Given the description of an element on the screen output the (x, y) to click on. 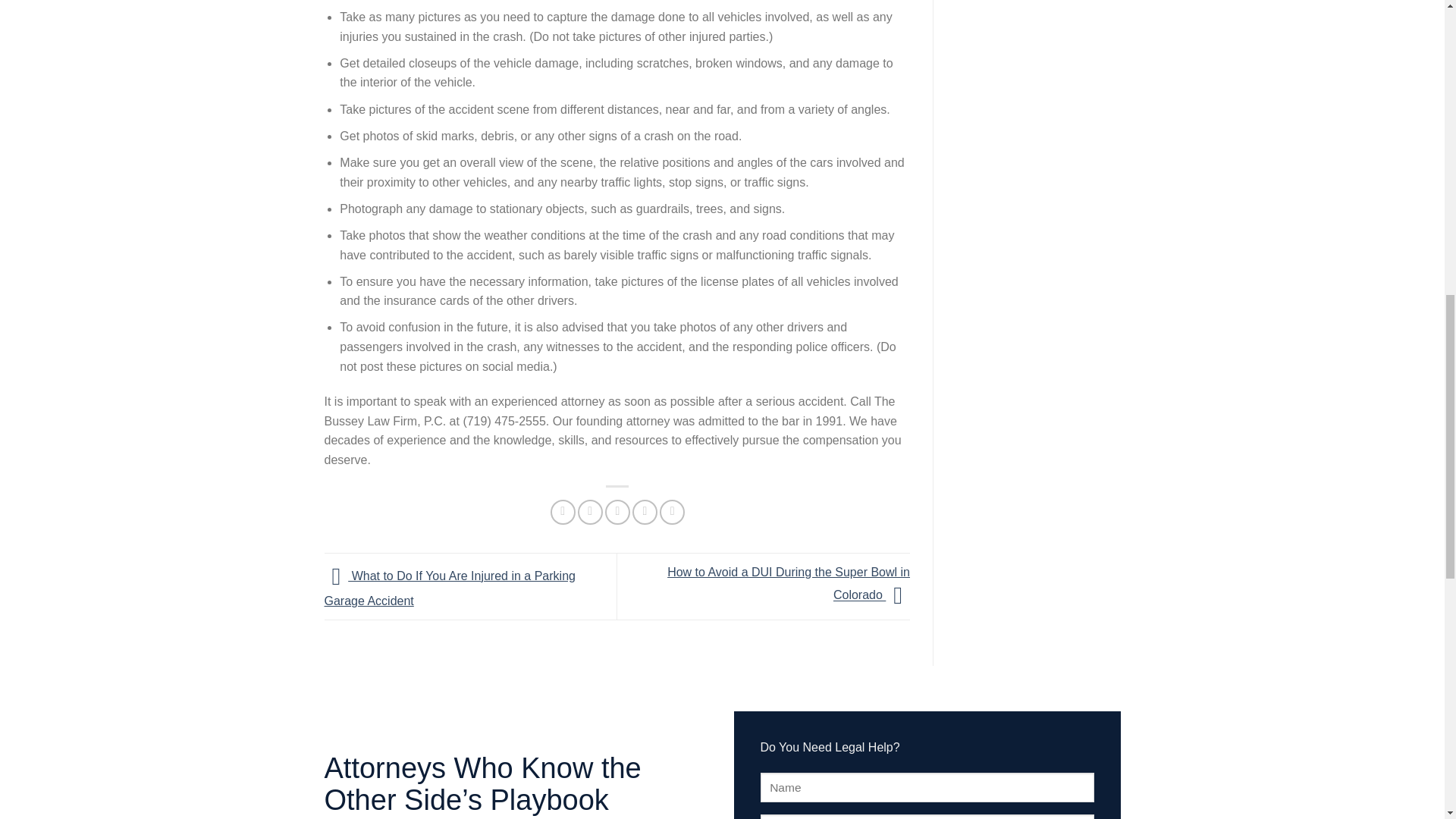
What to Do If You Are Injured in a Parking Garage Accident (449, 588)
How to Avoid a DUI During the Super Bowl in Colorado (788, 583)
Share on Facebook (562, 511)
Share on LinkedIn (671, 511)
Pin on Pinterest (644, 511)
Email to a Friend (617, 511)
Share on Twitter (590, 511)
